Given the description of an element on the screen output the (x, y) to click on. 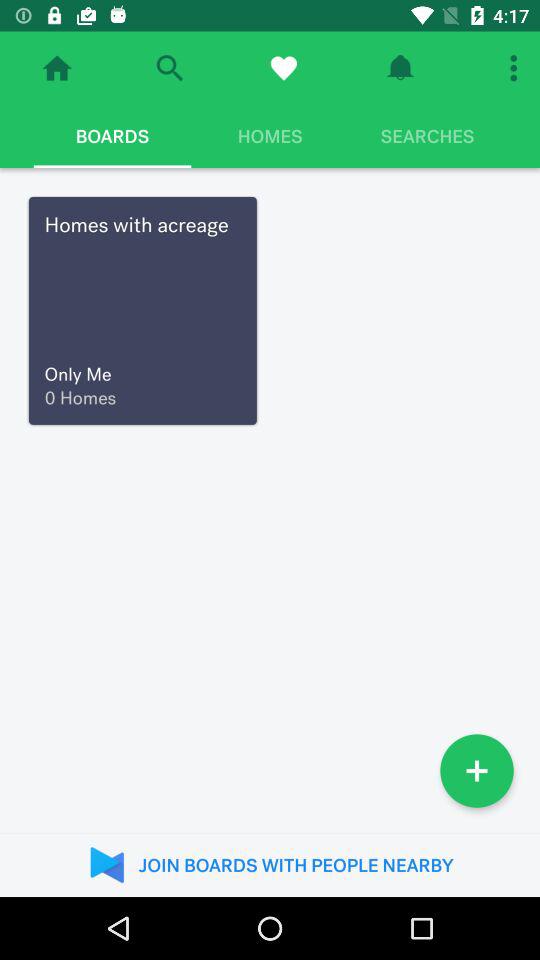
launch the searches icon (427, 136)
